Given the description of an element on the screen output the (x, y) to click on. 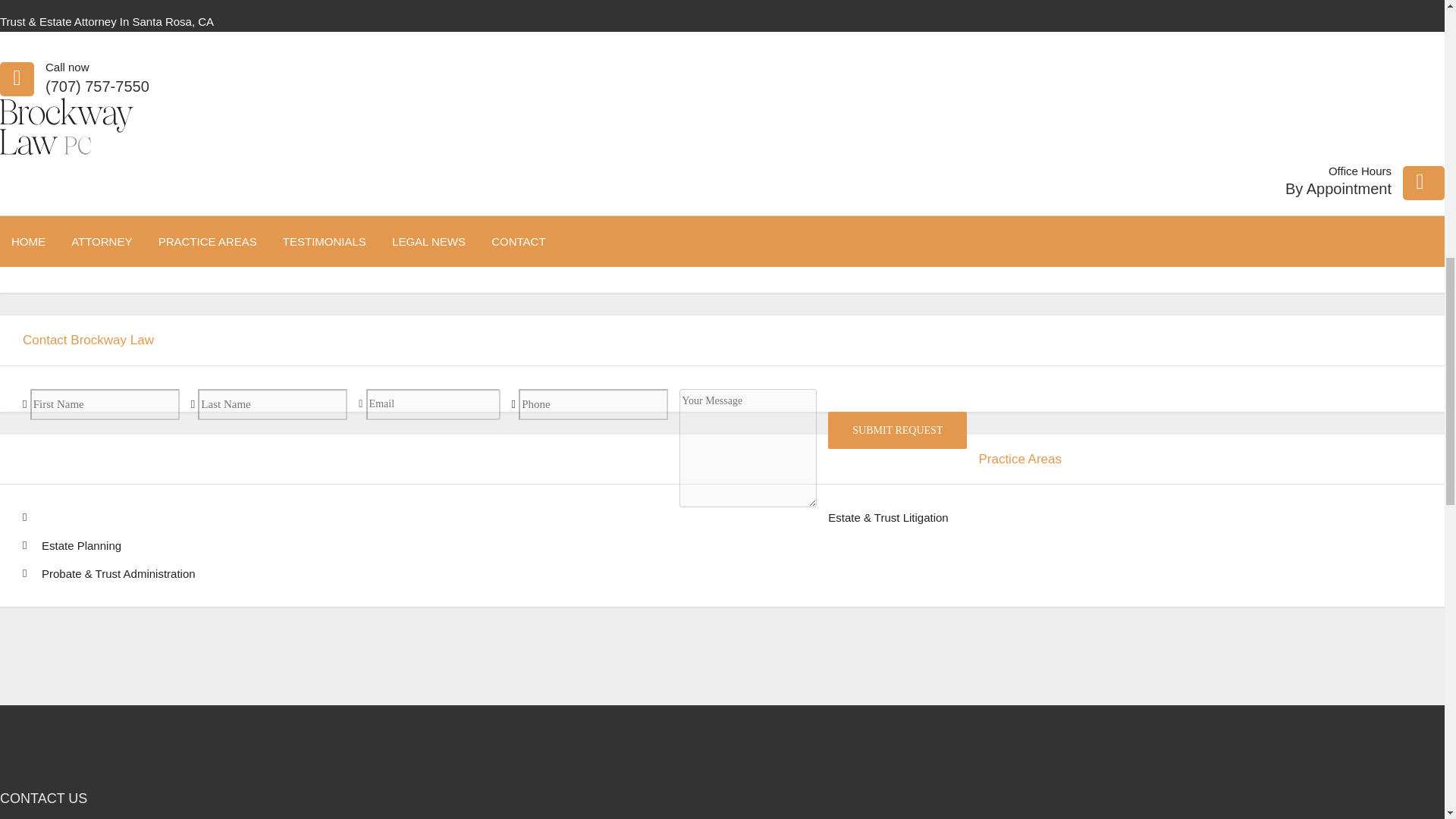
SUBMIT REQUEST (897, 429)
Estate Planning (81, 545)
Estate Planning (81, 545)
